Given the description of an element on the screen output the (x, y) to click on. 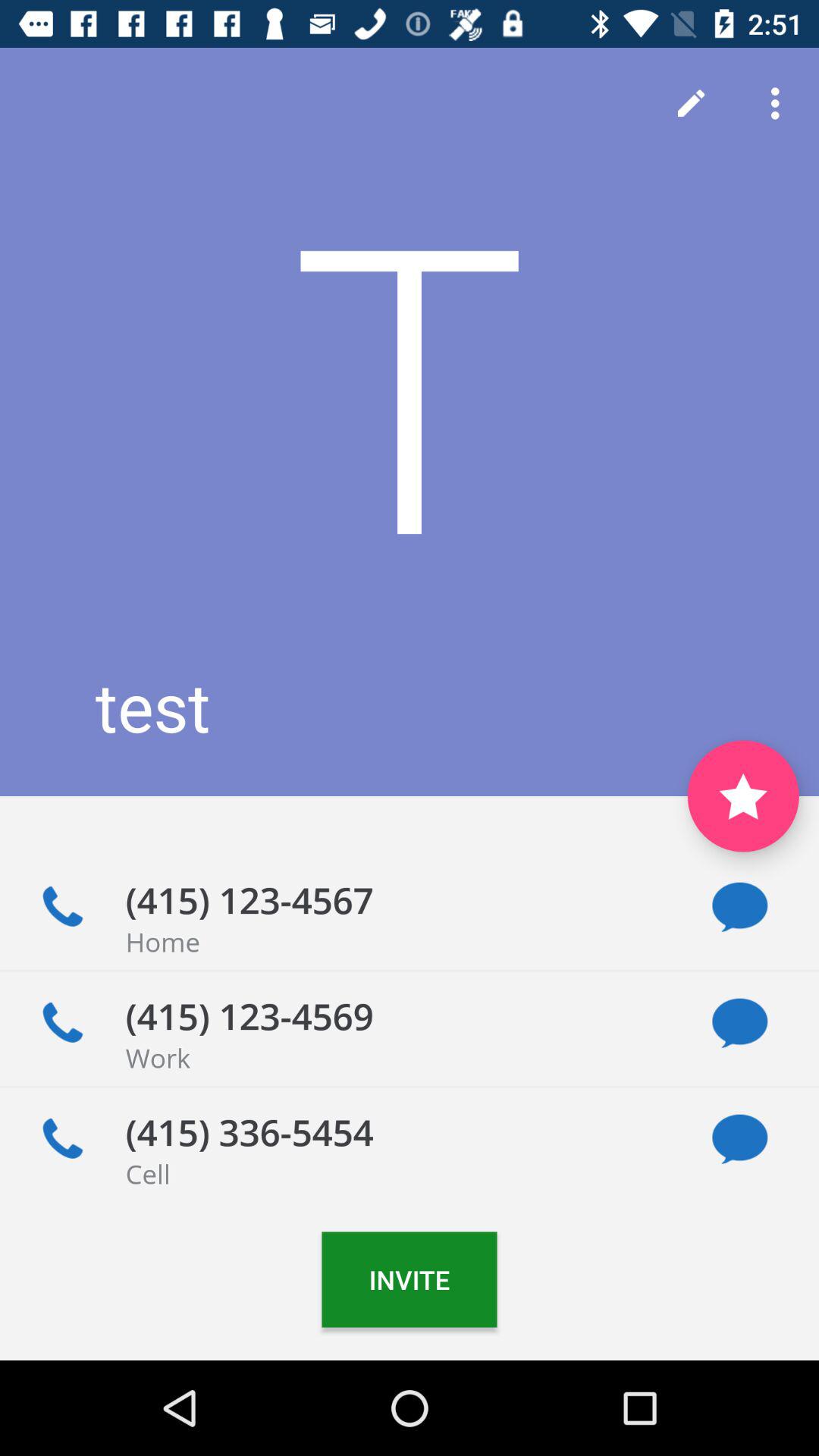
message option (739, 1139)
